Given the description of an element on the screen output the (x, y) to click on. 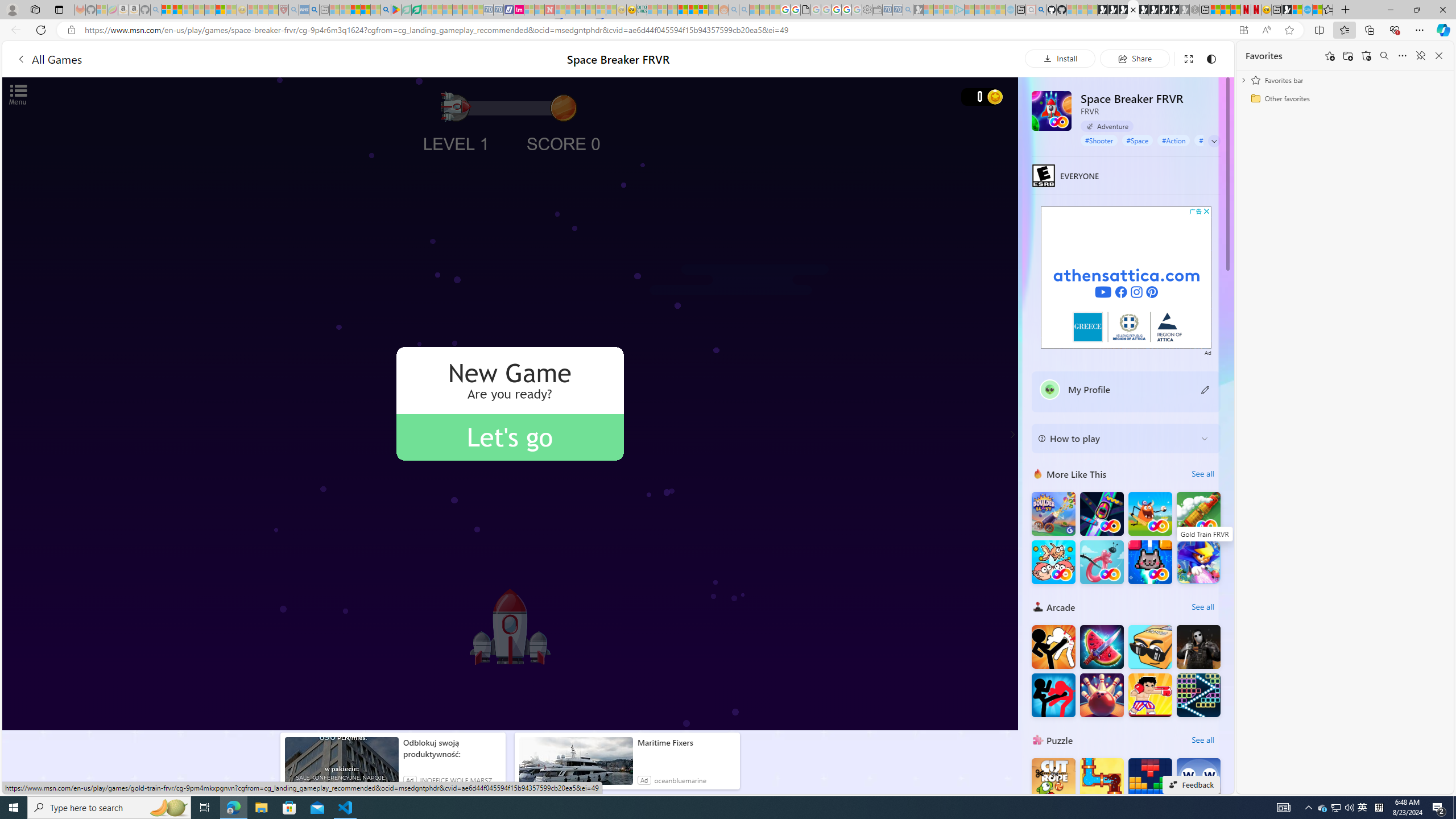
Microsoft account | Privacy - Sleeping (949, 9)
Bluey: Let's Play! - Apps on Google Play (395, 9)
Home | Sky Blue Bikes - Sky Blue Bikes - Sleeping (1010, 9)
Adventure (1107, 126)
DITOGAMES AG Imprint (641, 9)
